Given the description of an element on the screen output the (x, y) to click on. 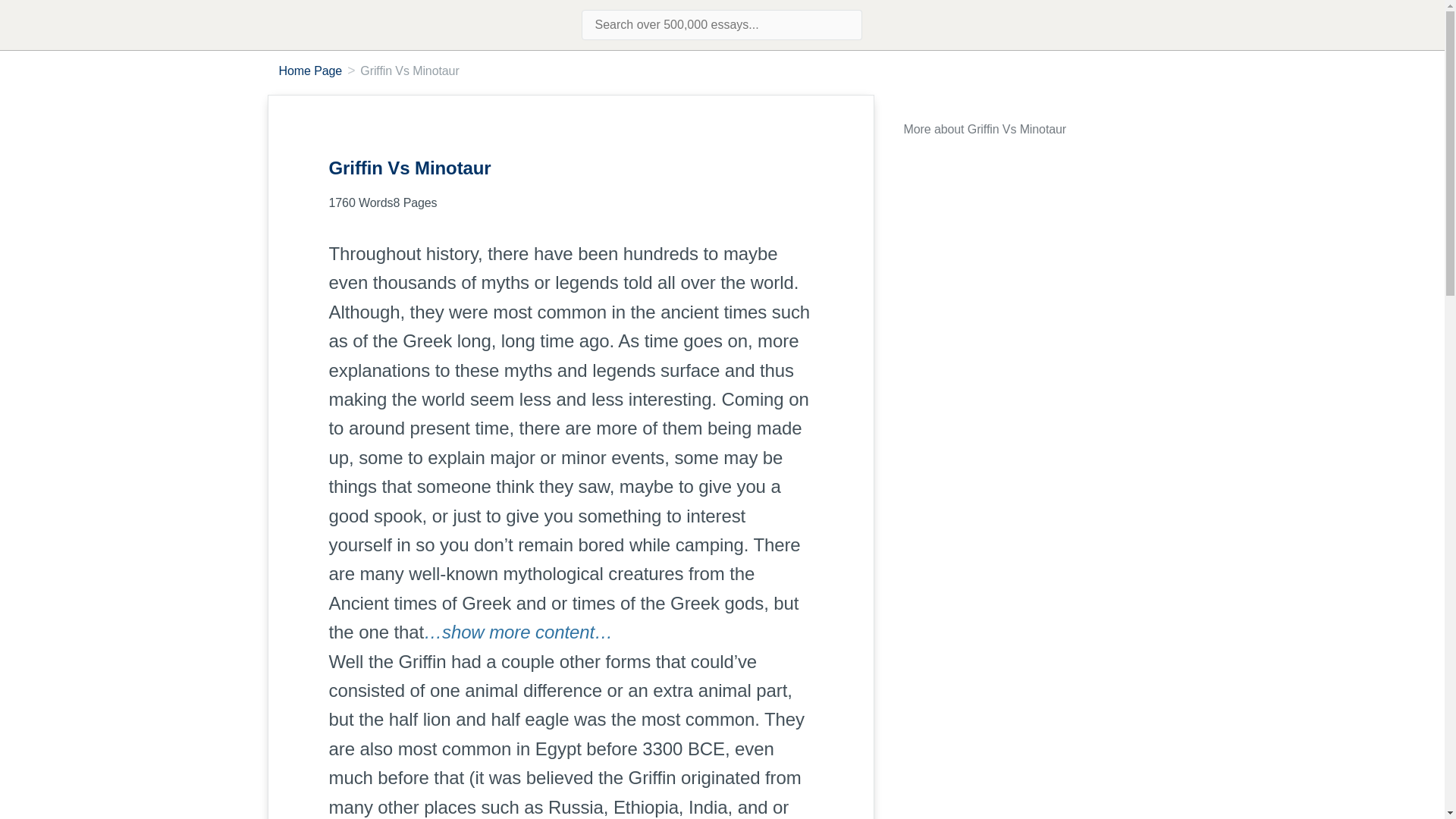
Home Page (310, 70)
